Given the description of an element on the screen output the (x, y) to click on. 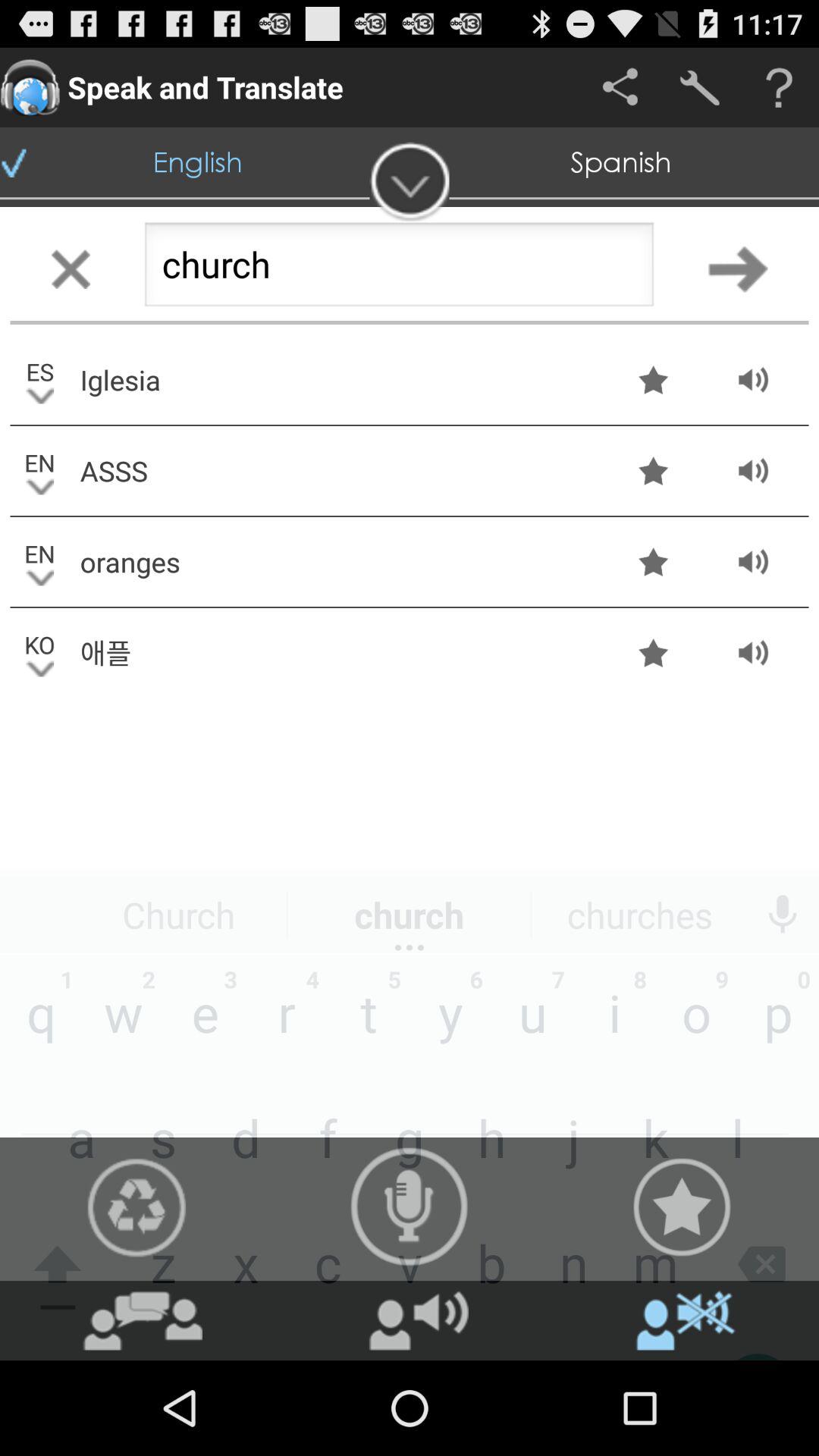
select the share icon (619, 87)
move to the text oranges (339, 562)
click on the volume icon of iglesia (753, 379)
click on the tool image icon to the right of the share icon (699, 87)
select en dropdown which is before asss on the page (39, 470)
click on the star icon at the bottom right of the page (682, 1206)
click in favorites icon which is on the left side of oranges (653, 561)
click on the text which says spanish which is at the right top corner (621, 161)
